Given the description of an element on the screen output the (x, y) to click on. 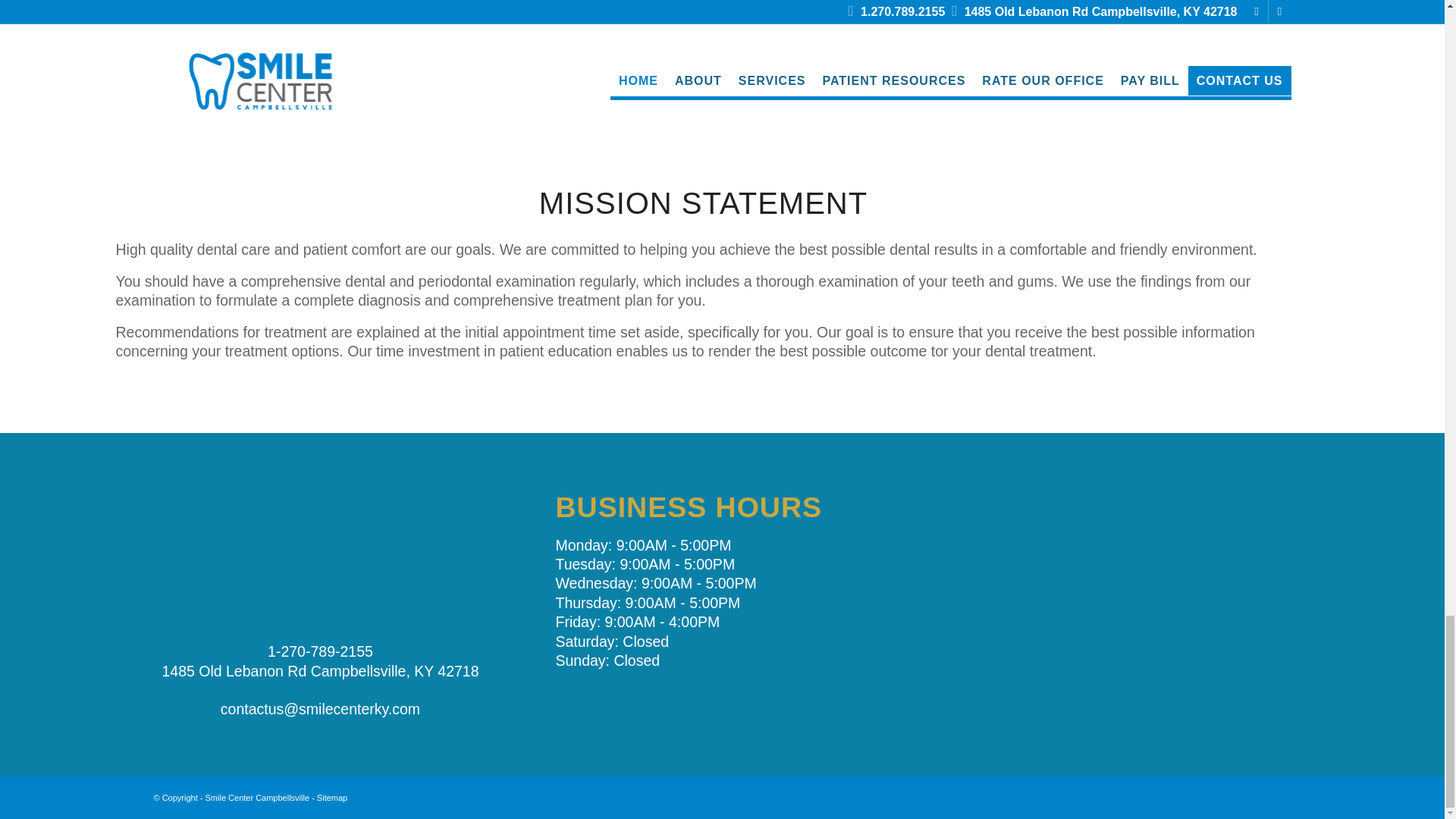
HomePageThird (319, 38)
